Given the description of an element on the screen output the (x, y) to click on. 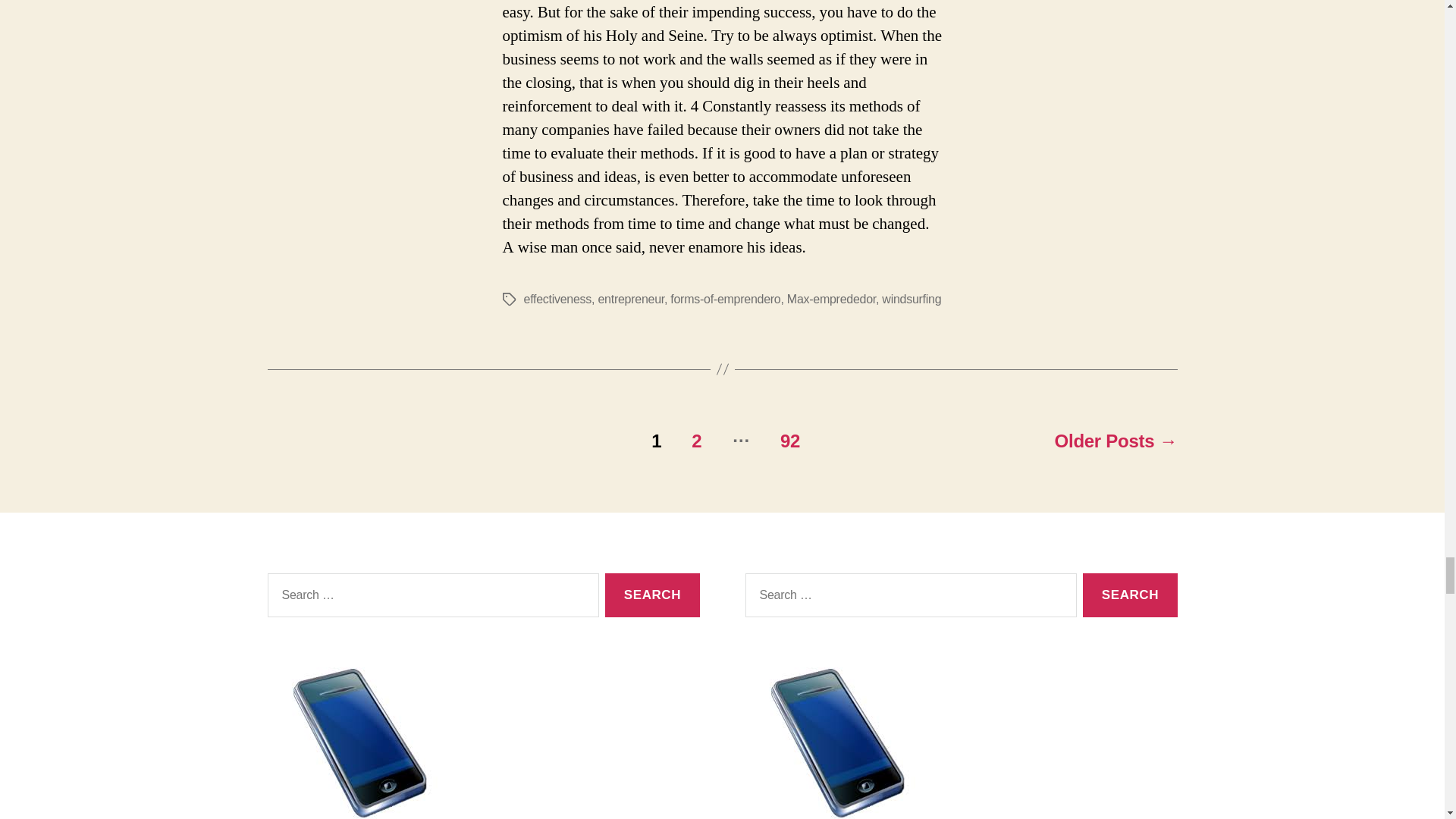
Search (651, 595)
Search (651, 595)
Search (1129, 595)
Search (1129, 595)
